Given the description of an element on the screen output the (x, y) to click on. 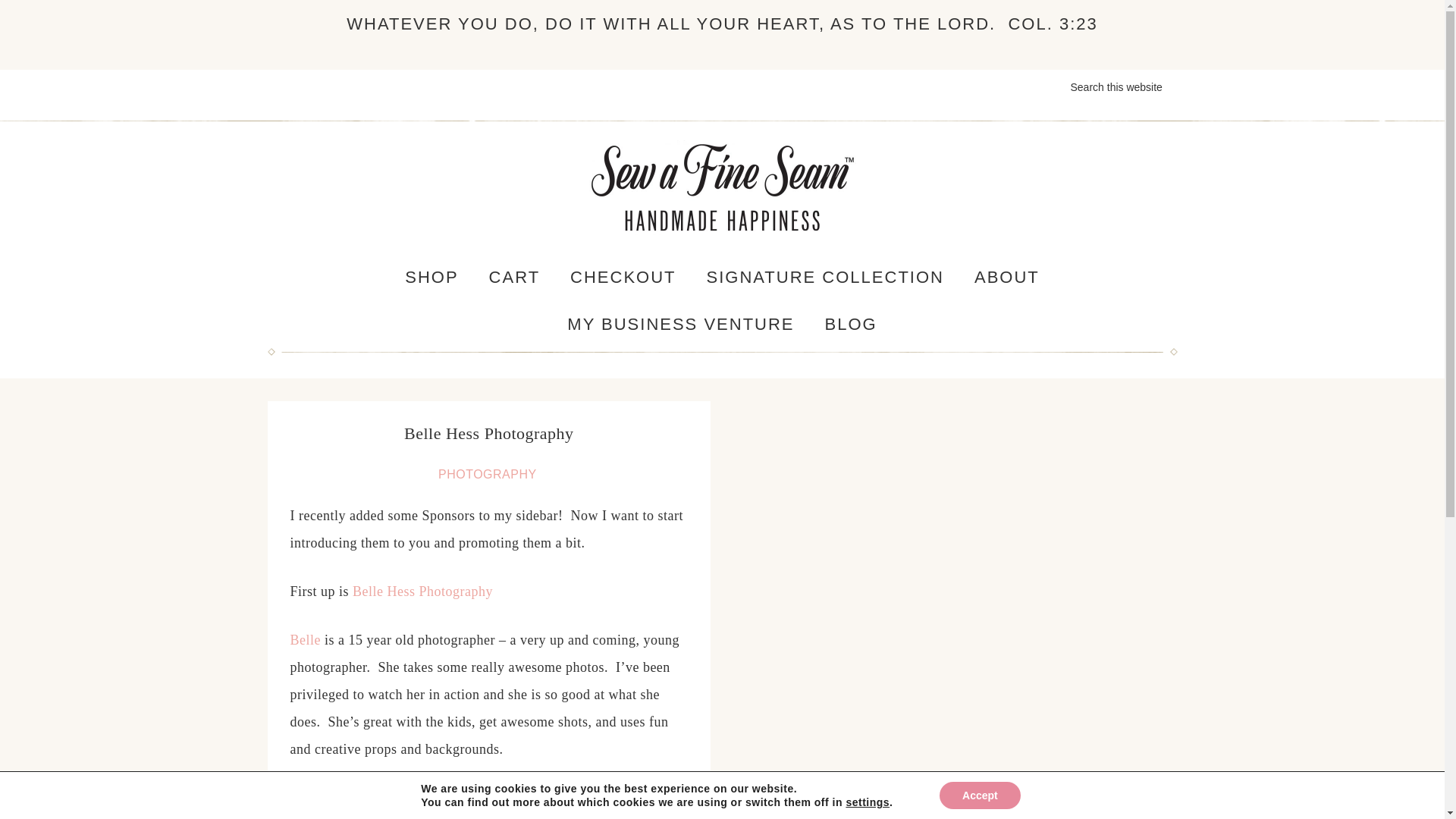
BLOG (850, 324)
Belle Hess Photography (422, 590)
About (1006, 277)
SIGNATURE COLLECTION (825, 277)
ABOUT (1006, 277)
CART (515, 277)
Belle (304, 639)
